Given the description of an element on the screen output the (x, y) to click on. 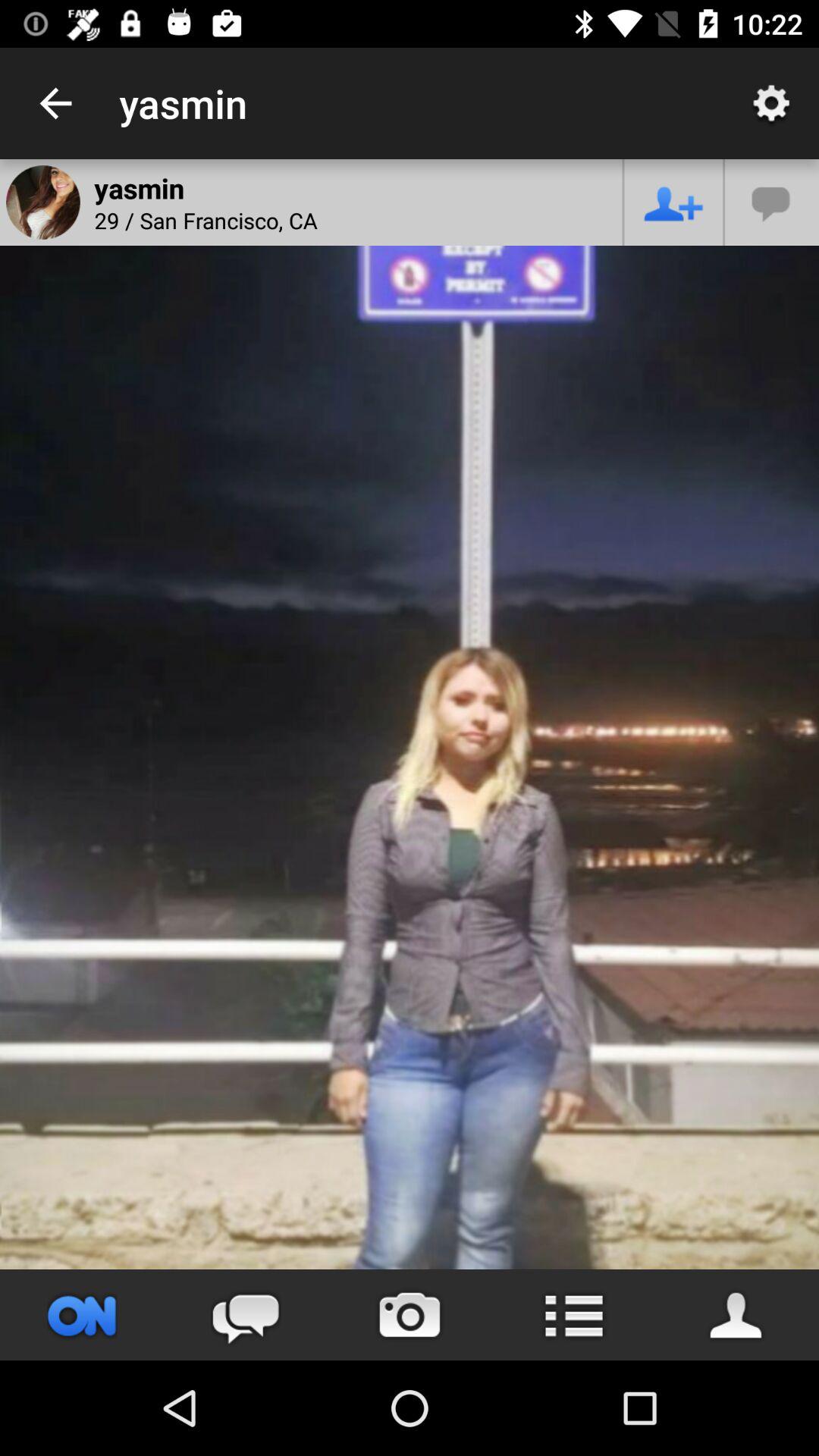
see comments (245, 1315)
